Given the description of an element on the screen output the (x, y) to click on. 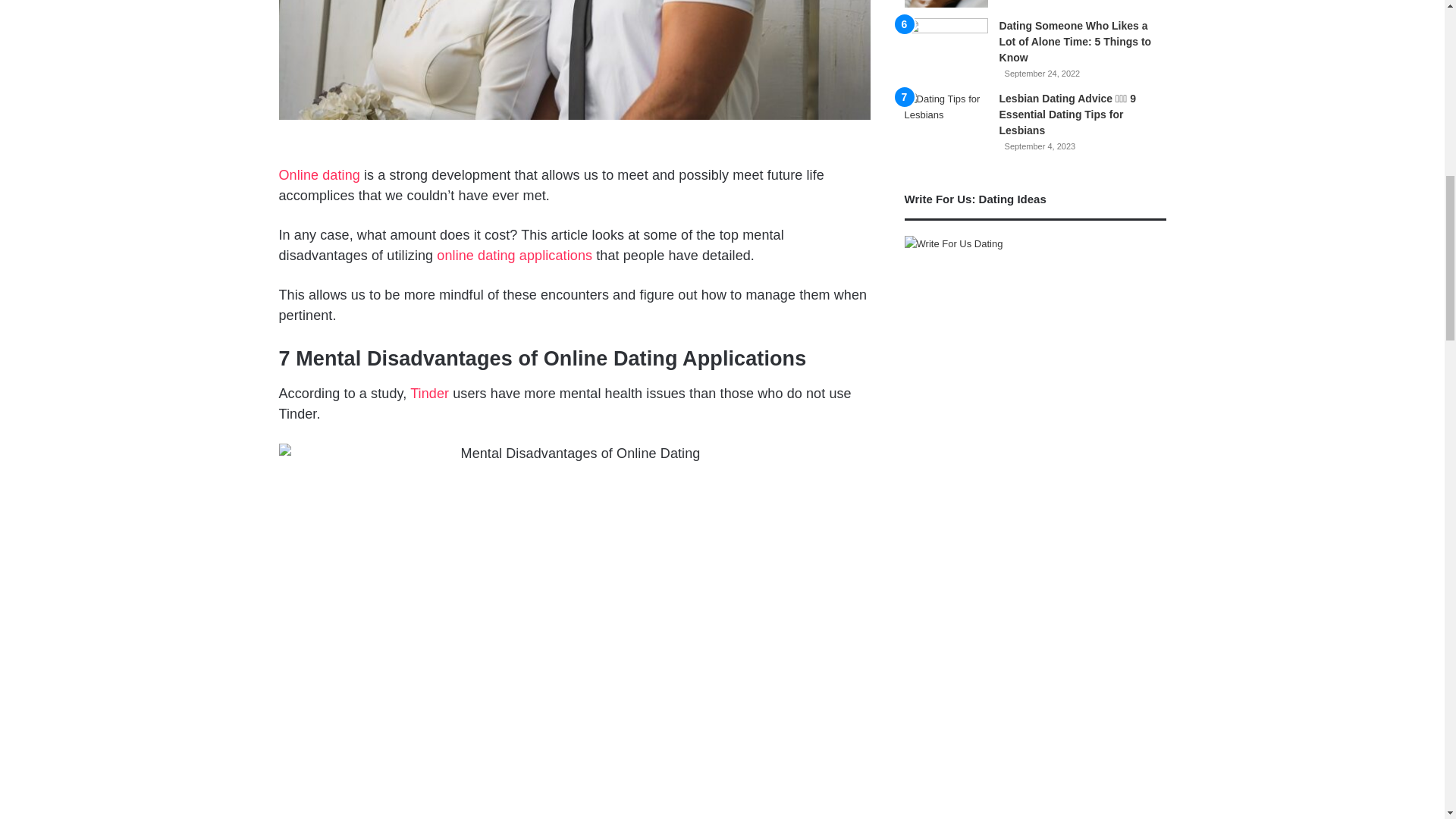
Write For Us Dating (953, 243)
online dating applications (514, 255)
Tinder (429, 393)
Online dating (319, 174)
